Given the description of an element on the screen output the (x, y) to click on. 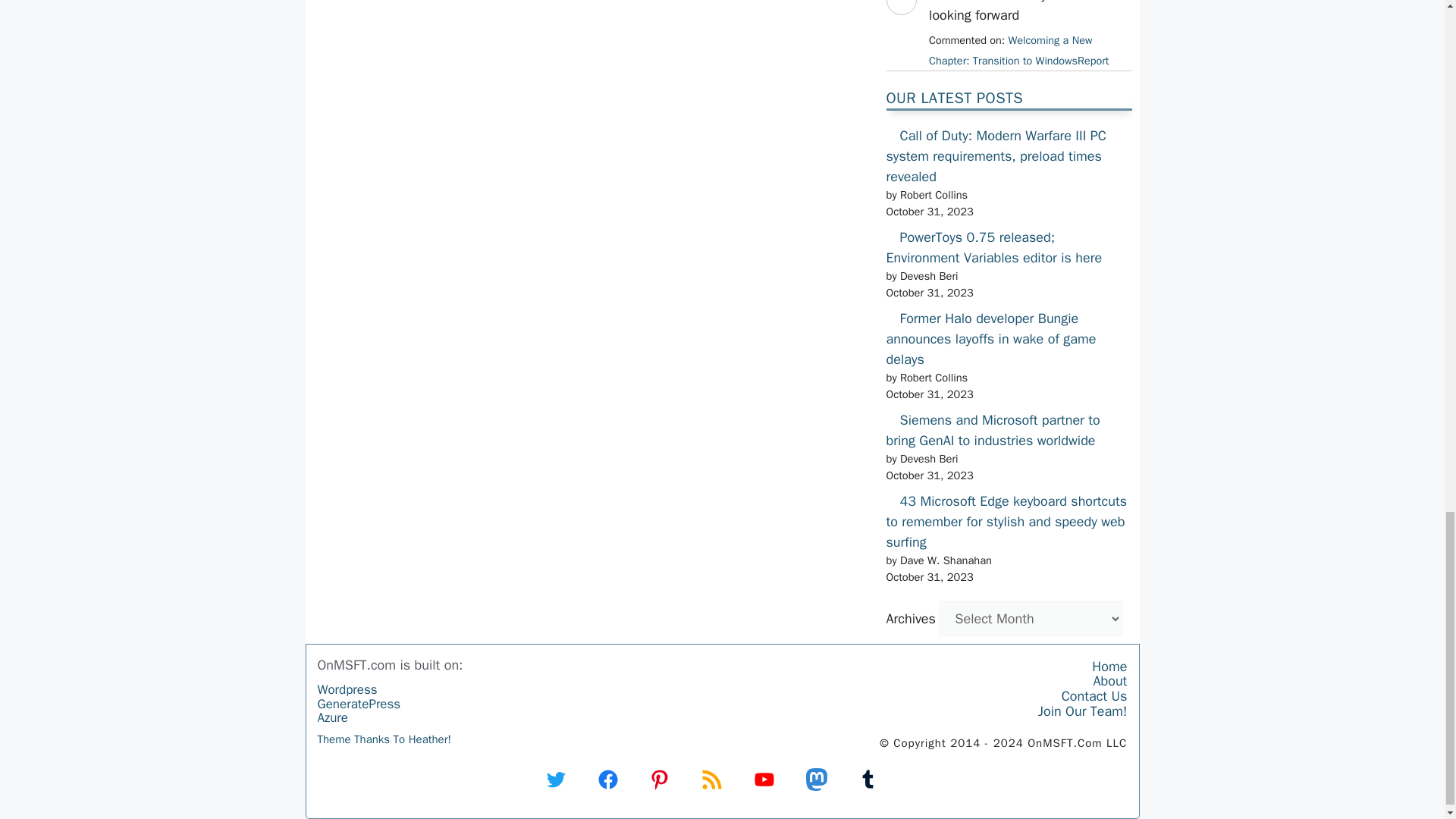
May 20, 2024 (1018, 50)
sathvik (900, 28)
